Given the description of an element on the screen output the (x, y) to click on. 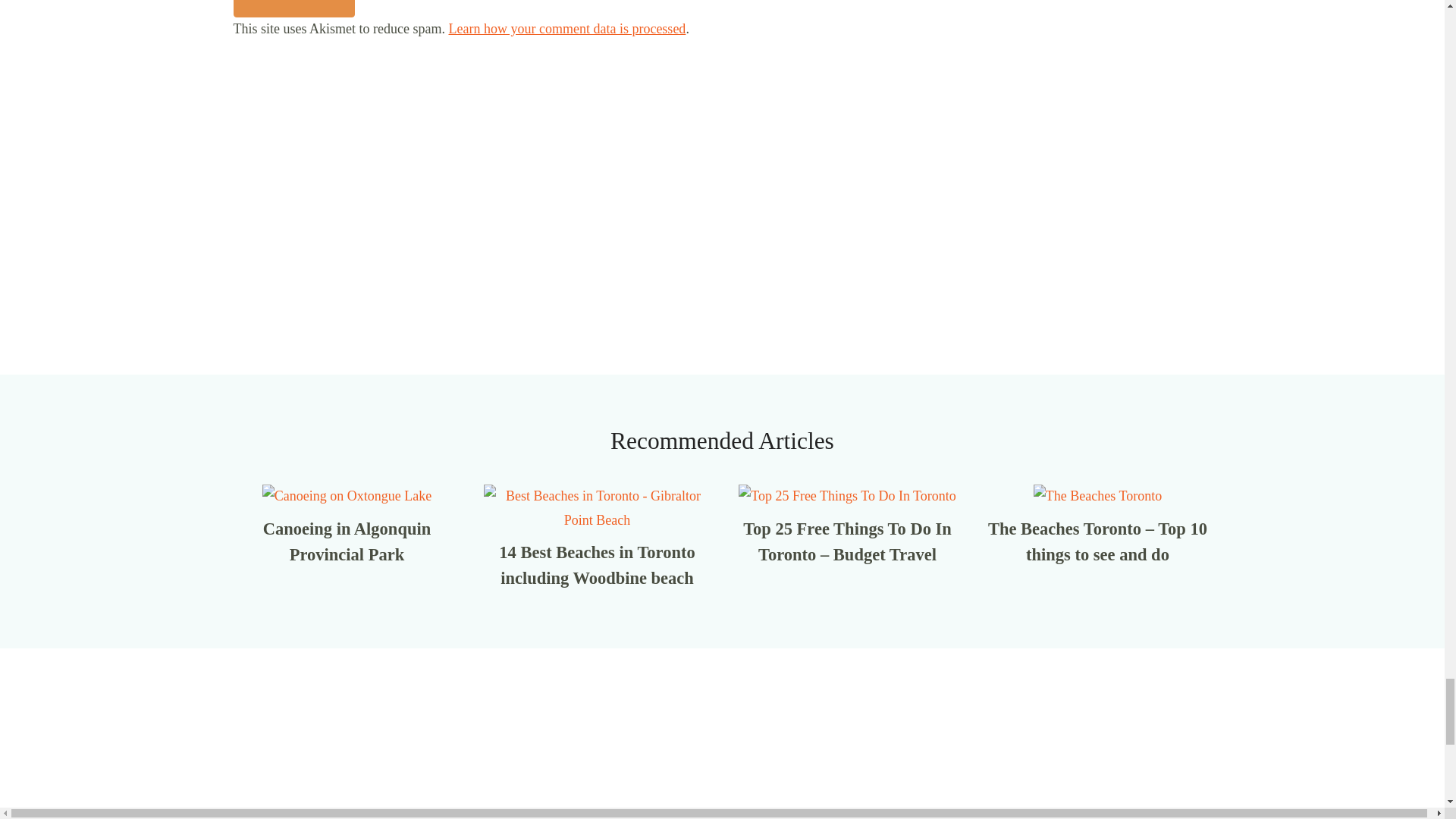
Post Comment (293, 8)
